Given the description of an element on the screen output the (x, y) to click on. 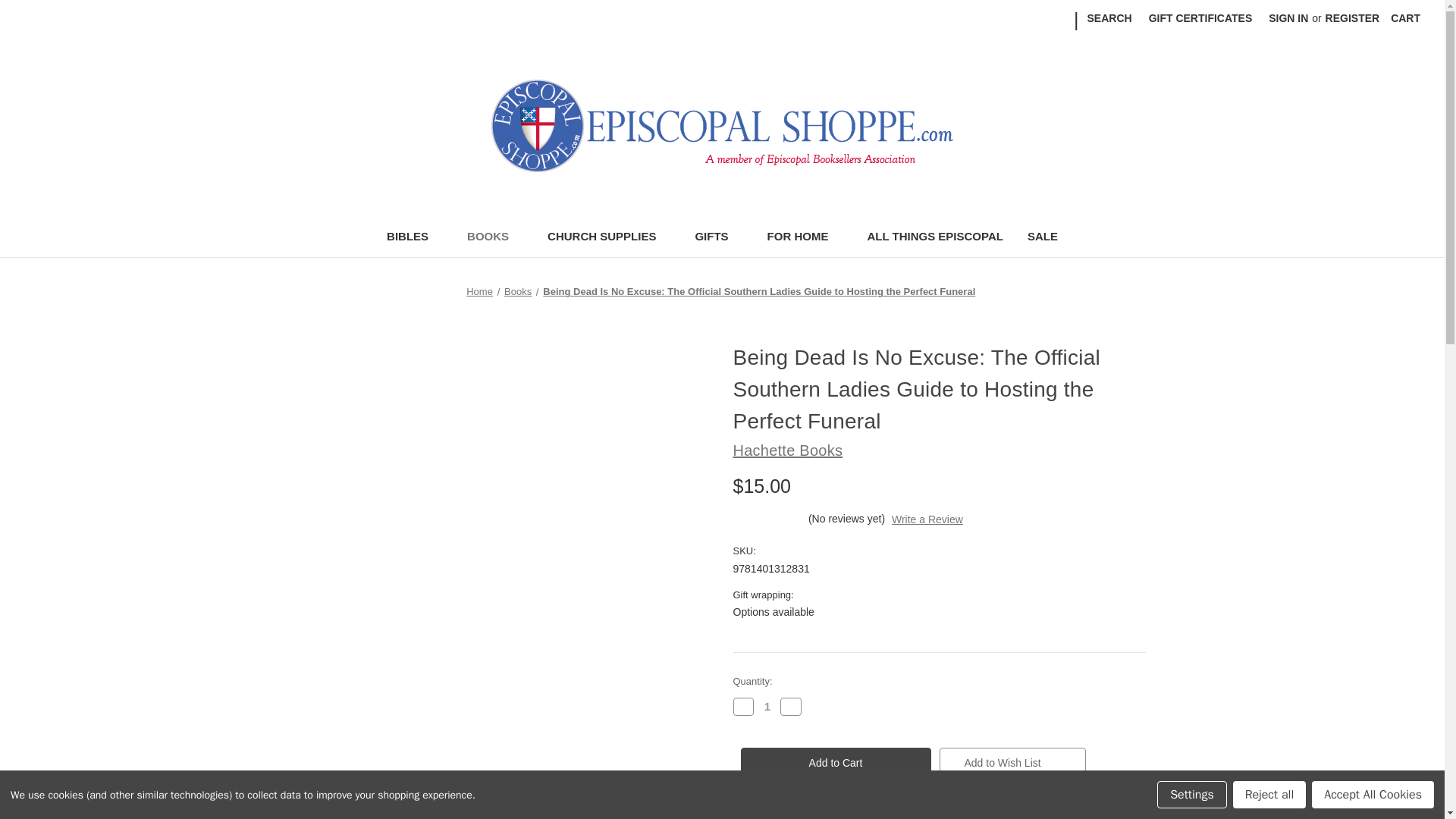
1 (767, 706)
Episcopal Shoppe (722, 125)
GIFT CERTIFICATES (1200, 18)
BIBLES (414, 238)
REGISTER (1353, 18)
CART (1404, 18)
SEARCH (1109, 18)
BOOKS (494, 238)
SIGN IN (1288, 18)
Add to Cart (834, 762)
